Given the description of an element on the screen output the (x, y) to click on. 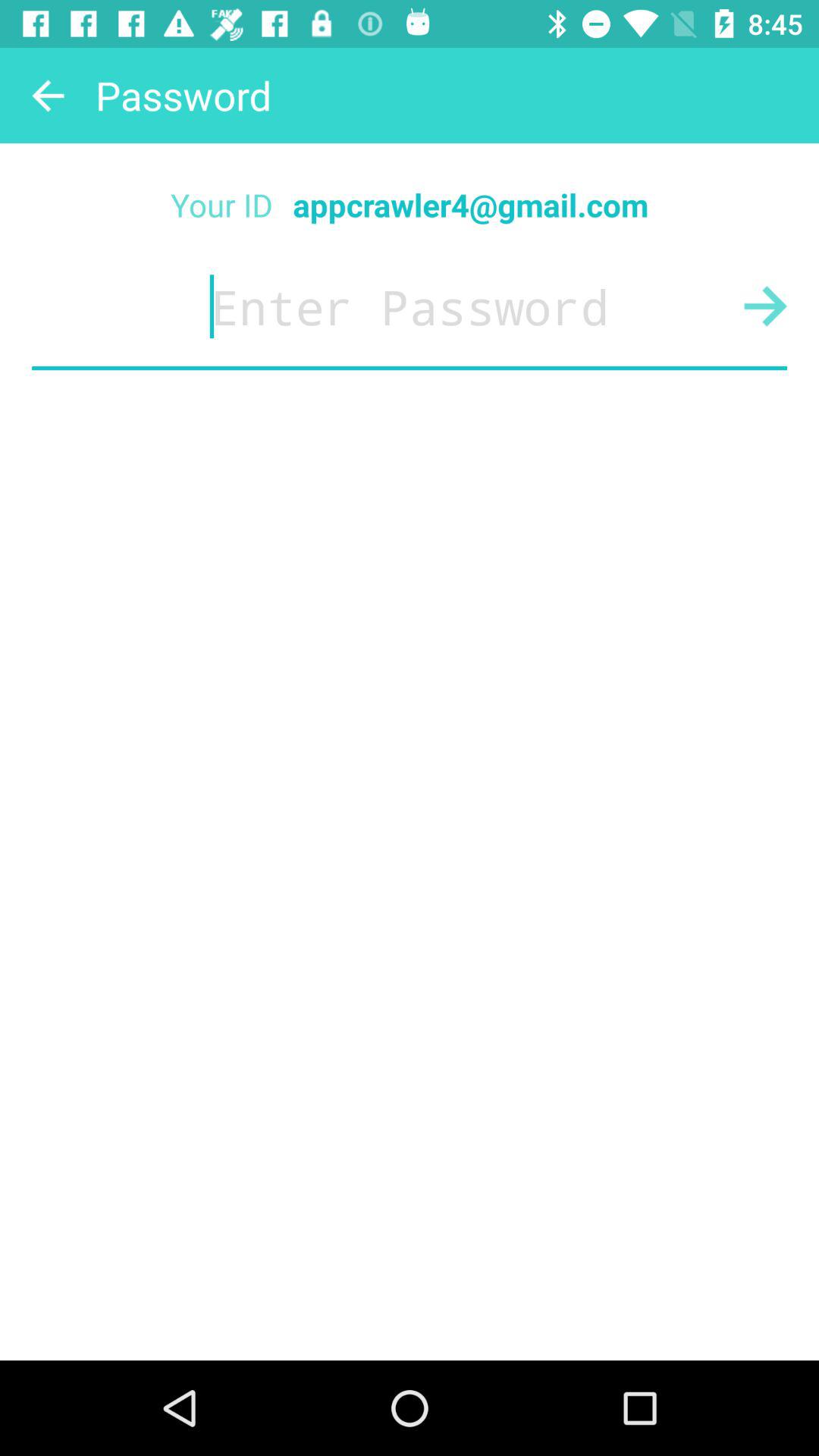
choose icon to the left of password item (47, 95)
